Given the description of an element on the screen output the (x, y) to click on. 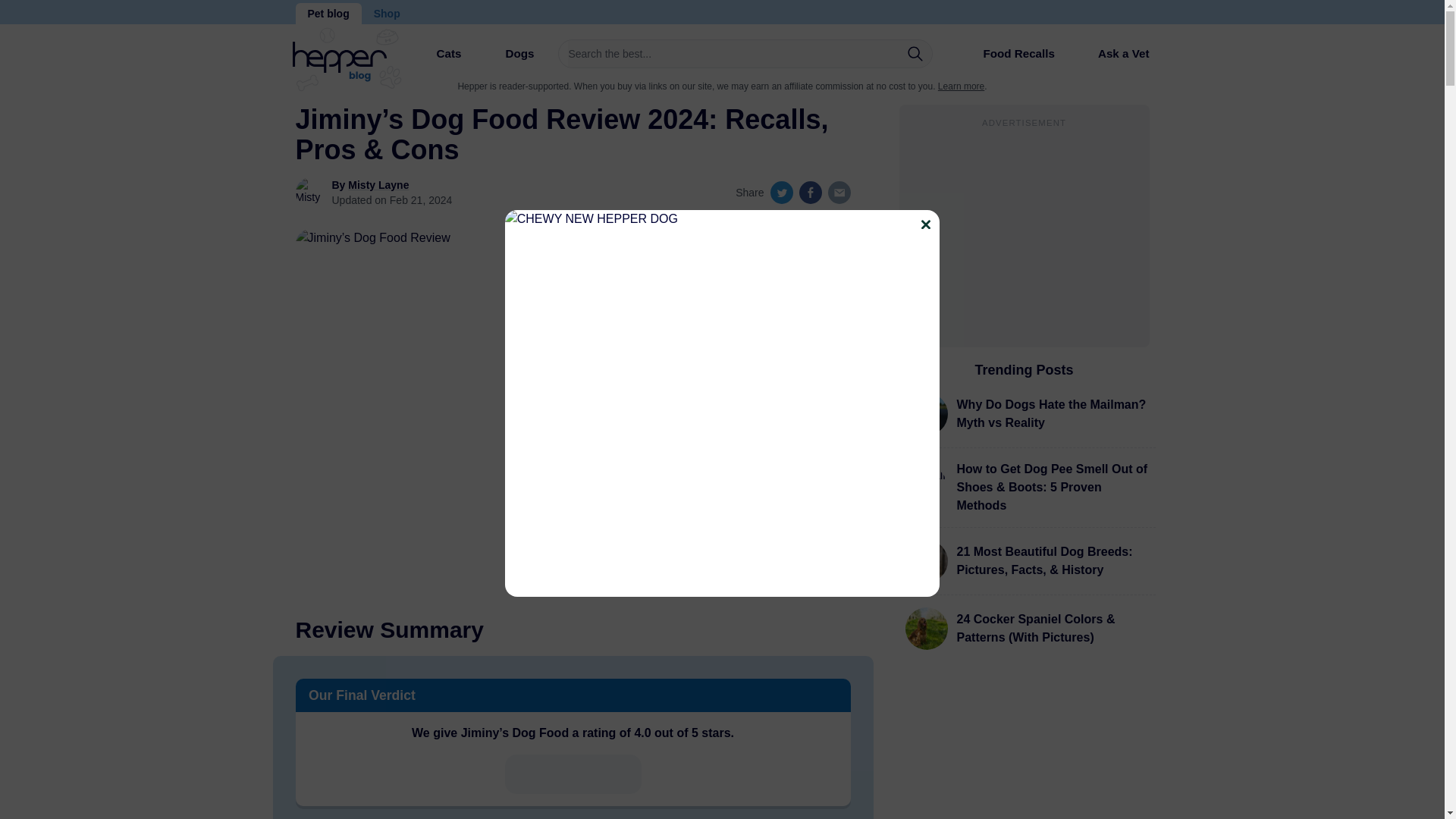
Misty Layne (378, 184)
Dogs (506, 59)
Ask a Vet (1111, 53)
Learn more (960, 86)
Shop (387, 13)
Food Recalls (1005, 59)
Cats (435, 59)
